Given the description of an element on the screen output the (x, y) to click on. 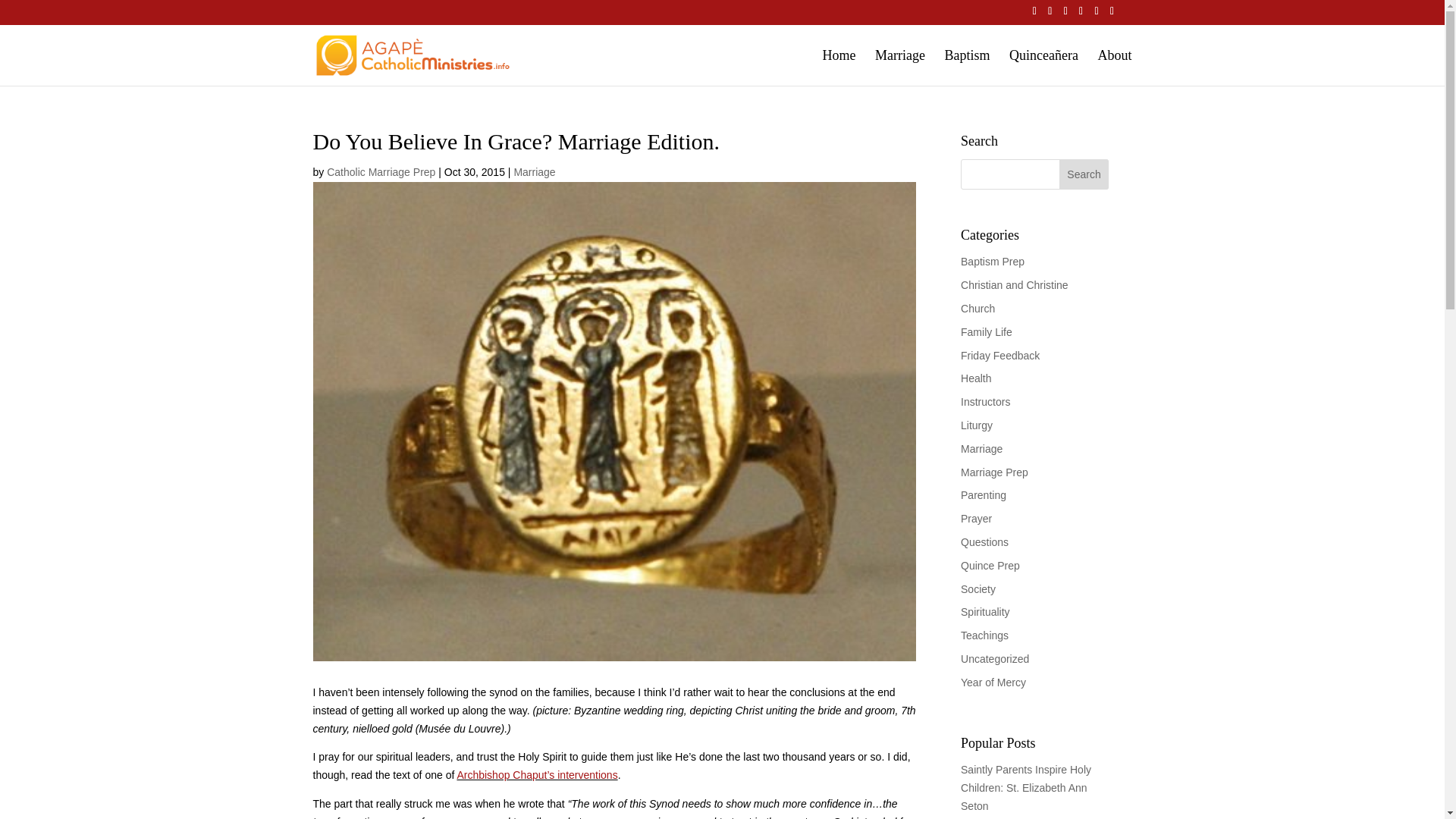
Church (977, 308)
Home (839, 67)
Marriage (533, 172)
Search (1084, 173)
Health (975, 378)
Family Life (985, 331)
Christian and Christine (1014, 285)
About (1114, 67)
Parenting (983, 494)
Marriage Prep (993, 472)
Questions (984, 541)
Catholic Marriage Prep (380, 172)
Instructors (985, 401)
Prayer (975, 518)
Baptism Prep (992, 261)
